Given the description of an element on the screen output the (x, y) to click on. 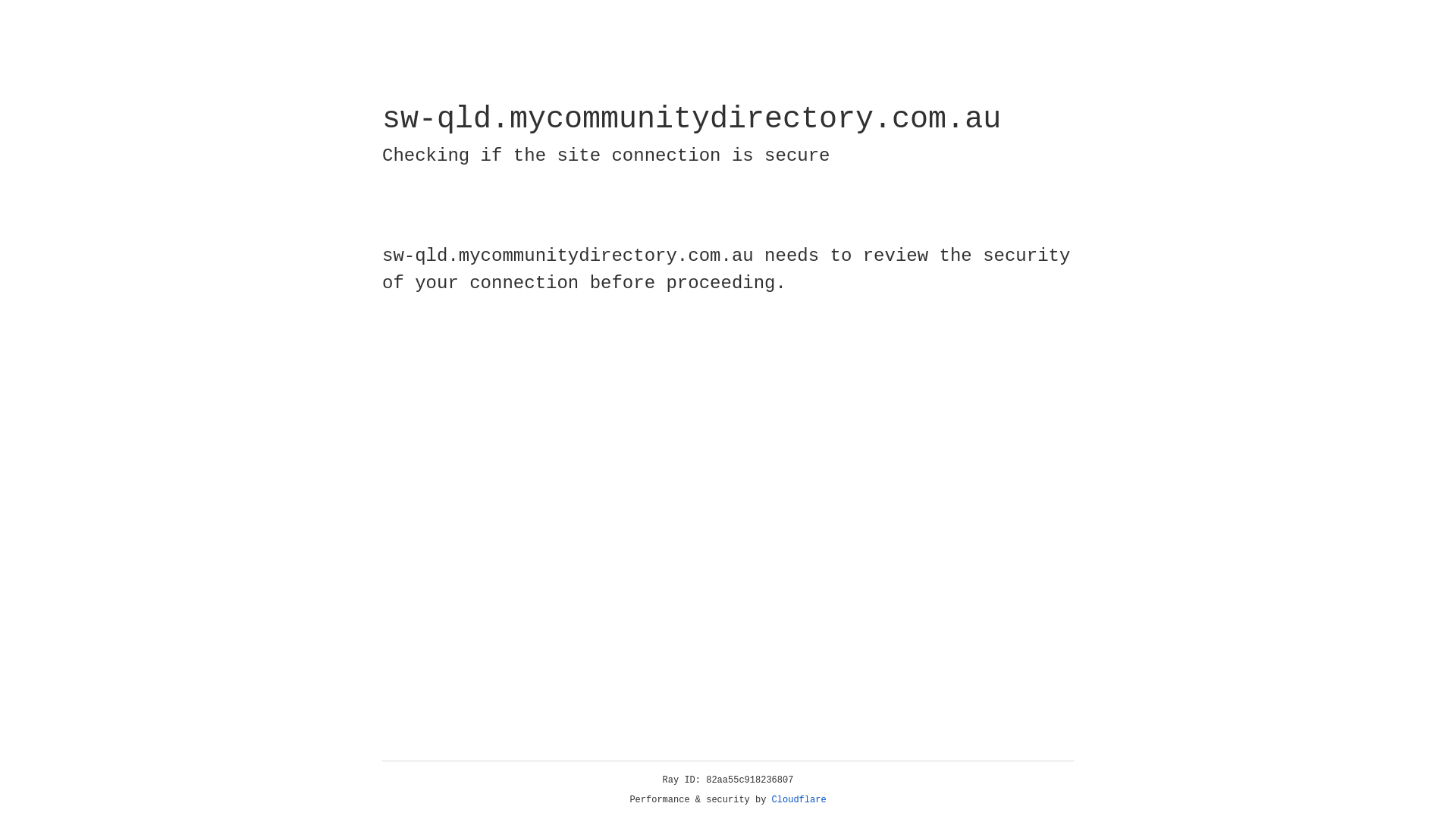
Cloudflare Element type: text (798, 799)
